Given the description of an element on the screen output the (x, y) to click on. 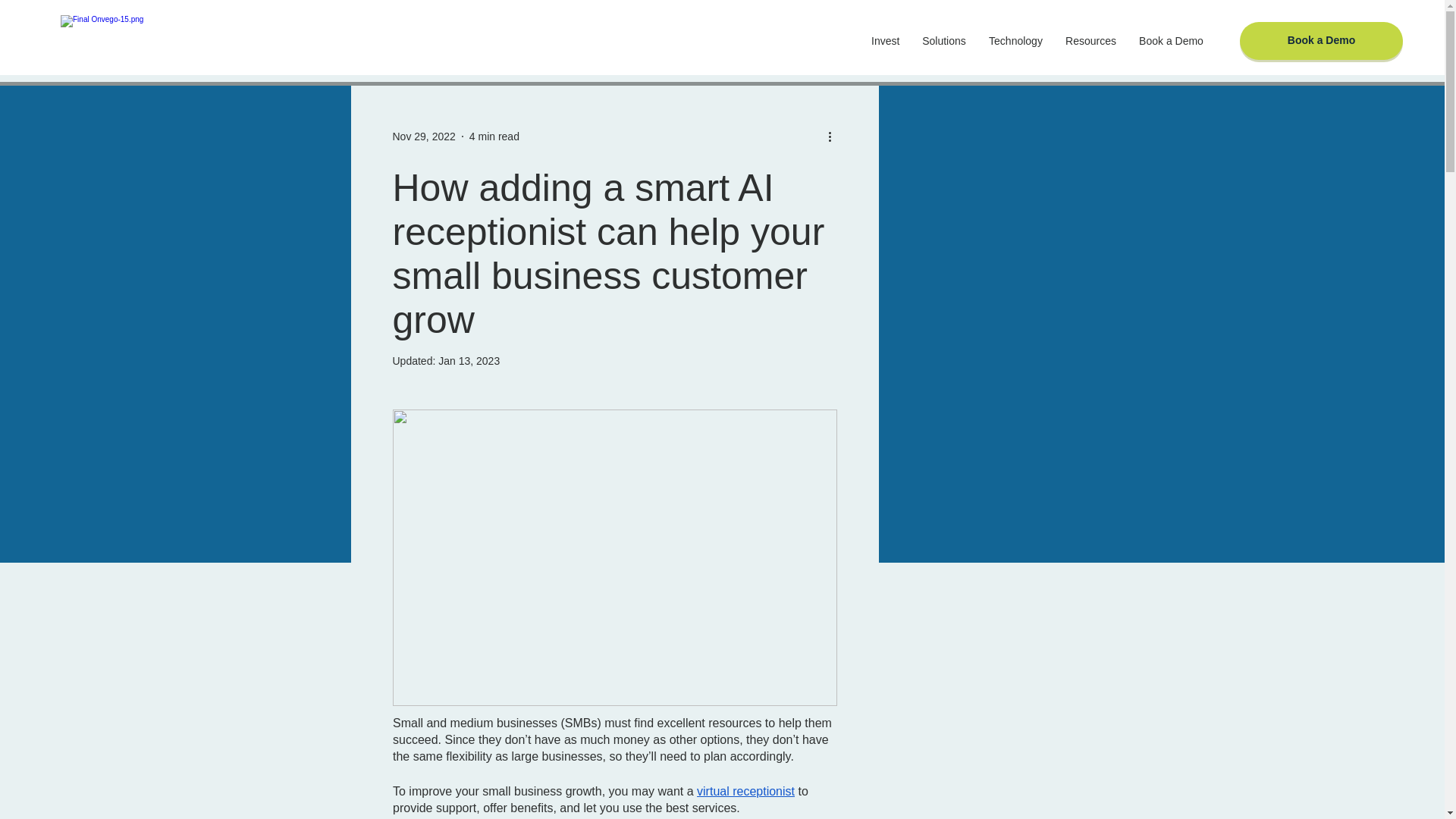
Resources (1090, 40)
Invest (885, 40)
Solutions (943, 40)
Nov 29, 2022 (424, 136)
Jan 13, 2023 (468, 360)
Book a Demo (1321, 40)
Book a Demo (1170, 40)
Technology (1015, 40)
virtual receptionist (745, 790)
4 min read (493, 136)
